Given the description of an element on the screen output the (x, y) to click on. 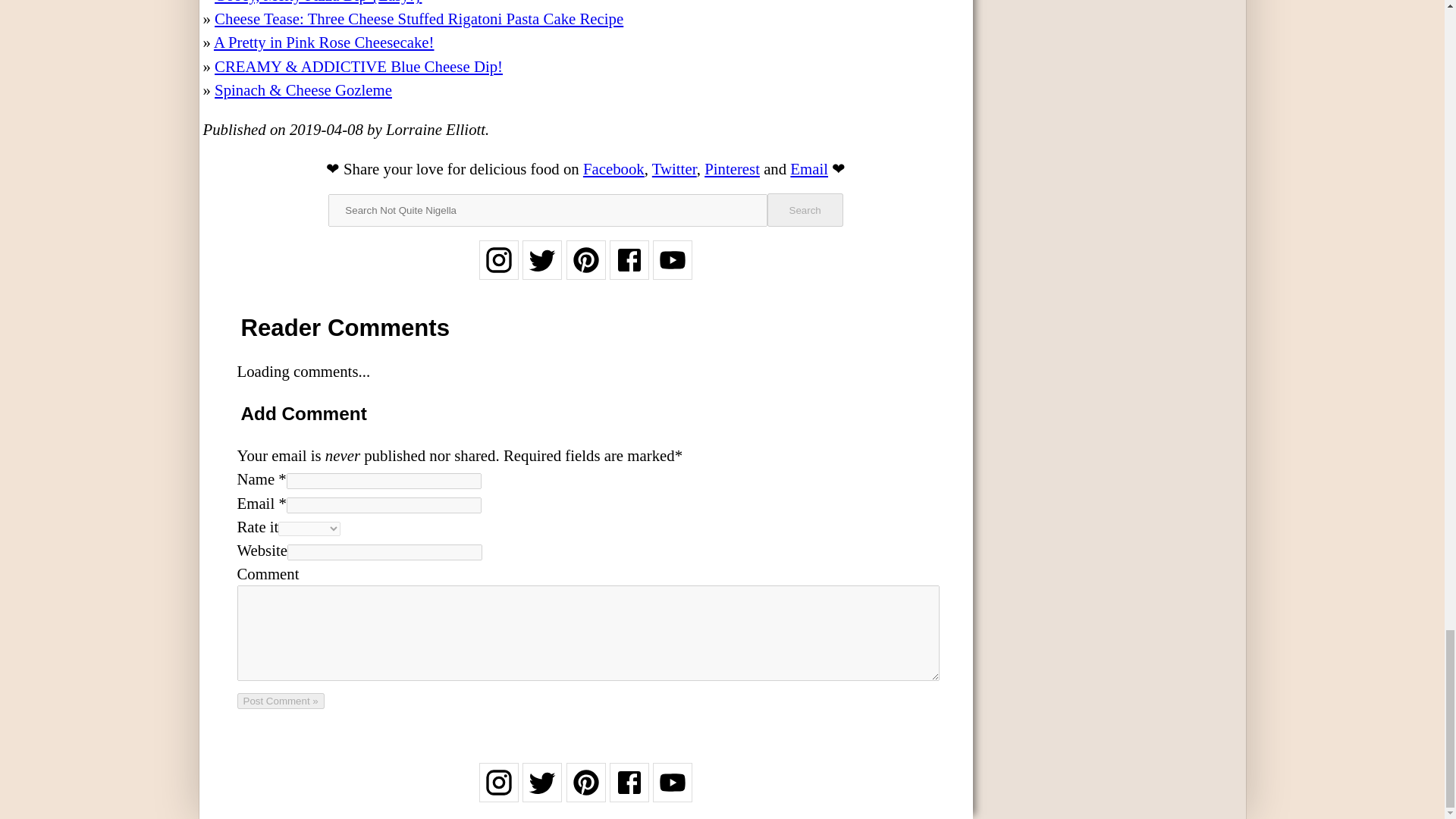
Search (805, 209)
Follow on Pinterest (584, 791)
Follow on YouTube (672, 791)
A Pretty in Pink Rose Cheesecake! (323, 41)
Follow on Instagram (498, 791)
Follow on Instagram (498, 269)
Search (805, 209)
Email (809, 168)
Follow on Pinterest (584, 269)
Follow on Facebook (629, 791)
